Given the description of an element on the screen output the (x, y) to click on. 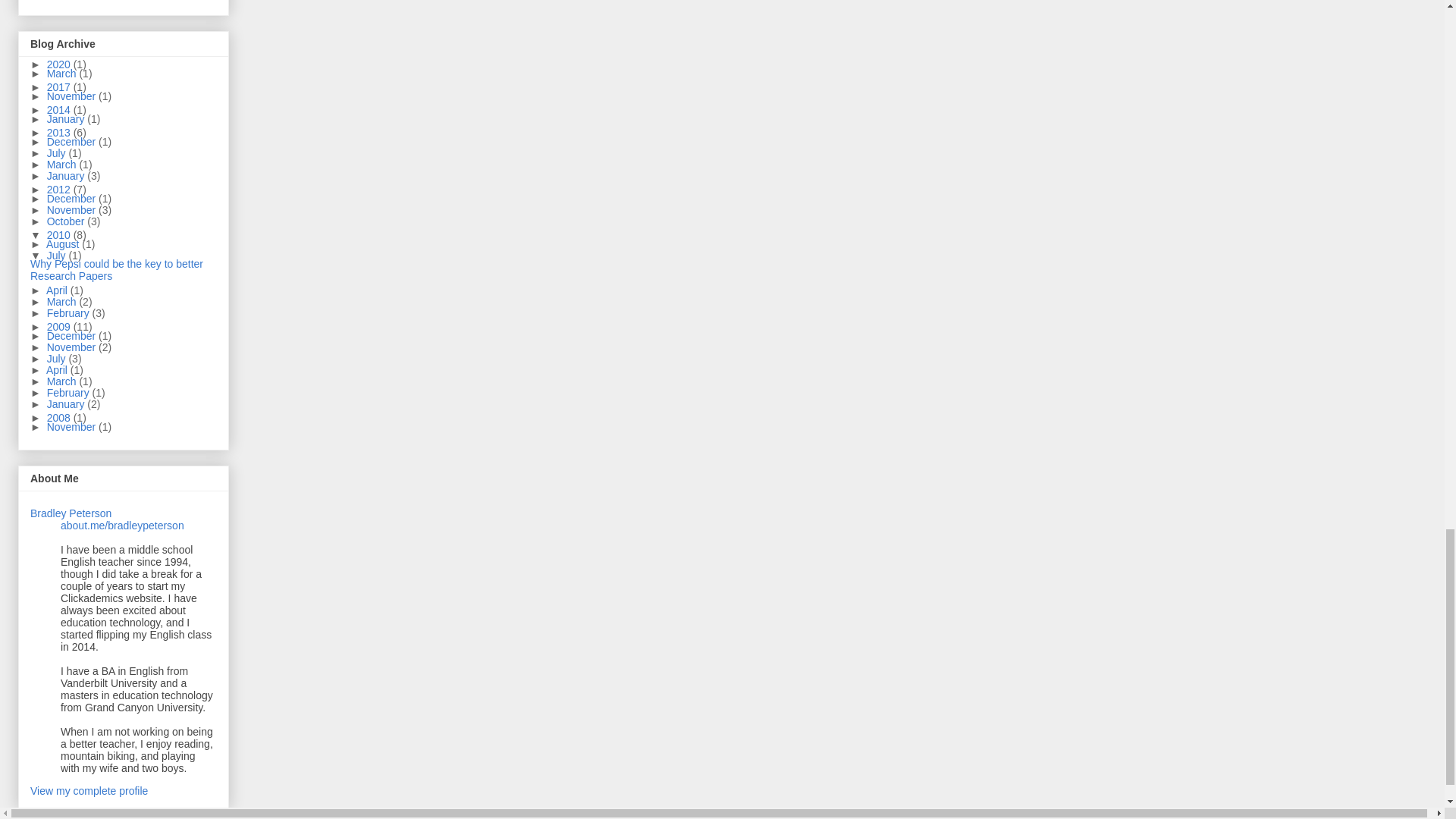
December (72, 141)
March (63, 73)
2020 (60, 64)
2013 (60, 132)
2017 (60, 87)
November (72, 96)
March (63, 164)
2014 (60, 110)
January (66, 175)
January (66, 119)
